Given the description of an element on the screen output the (x, y) to click on. 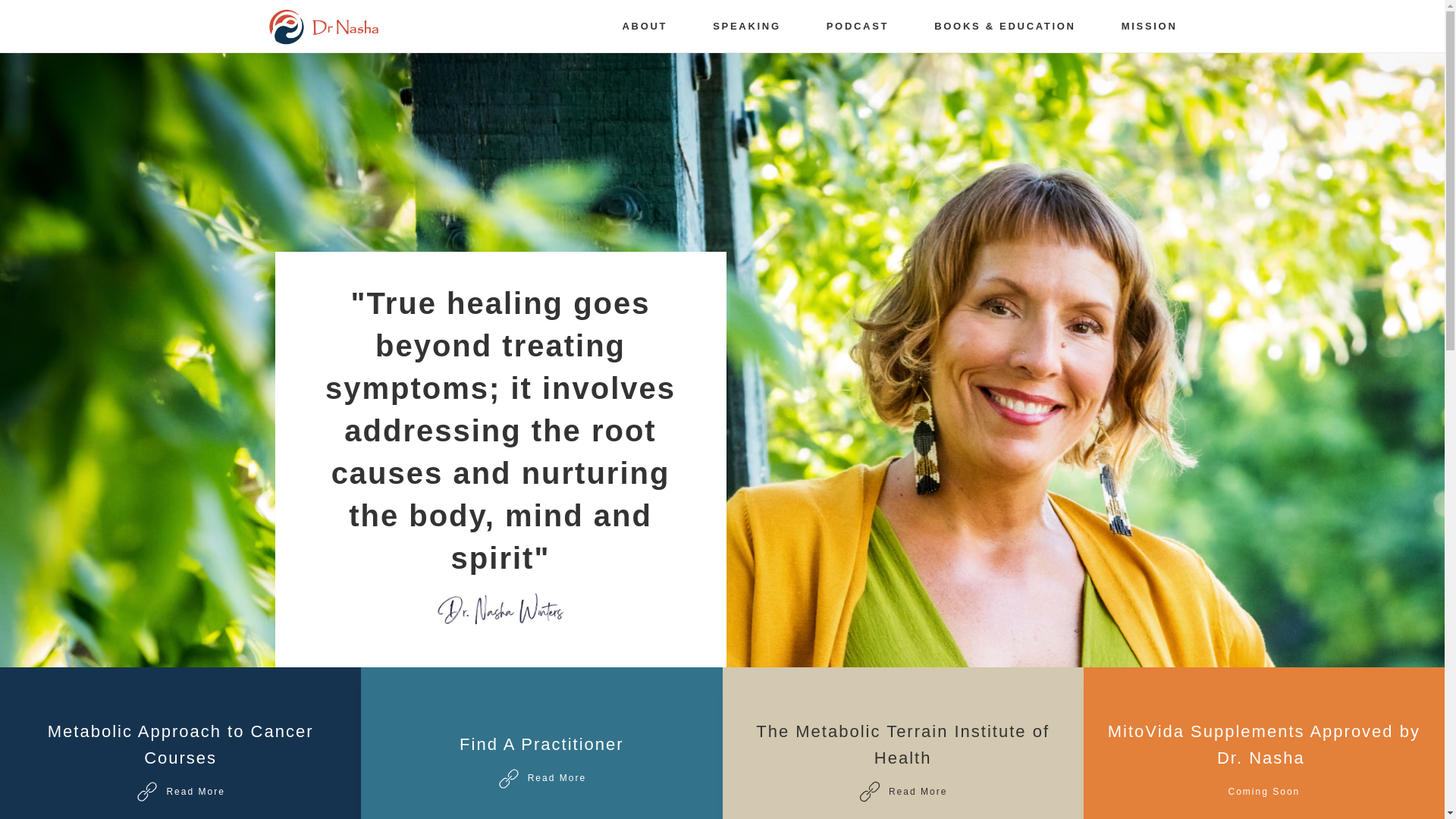
ABOUT (902, 743)
PODCAST (643, 25)
MISSION (857, 25)
SPEAKING (180, 743)
